Given the description of an element on the screen output the (x, y) to click on. 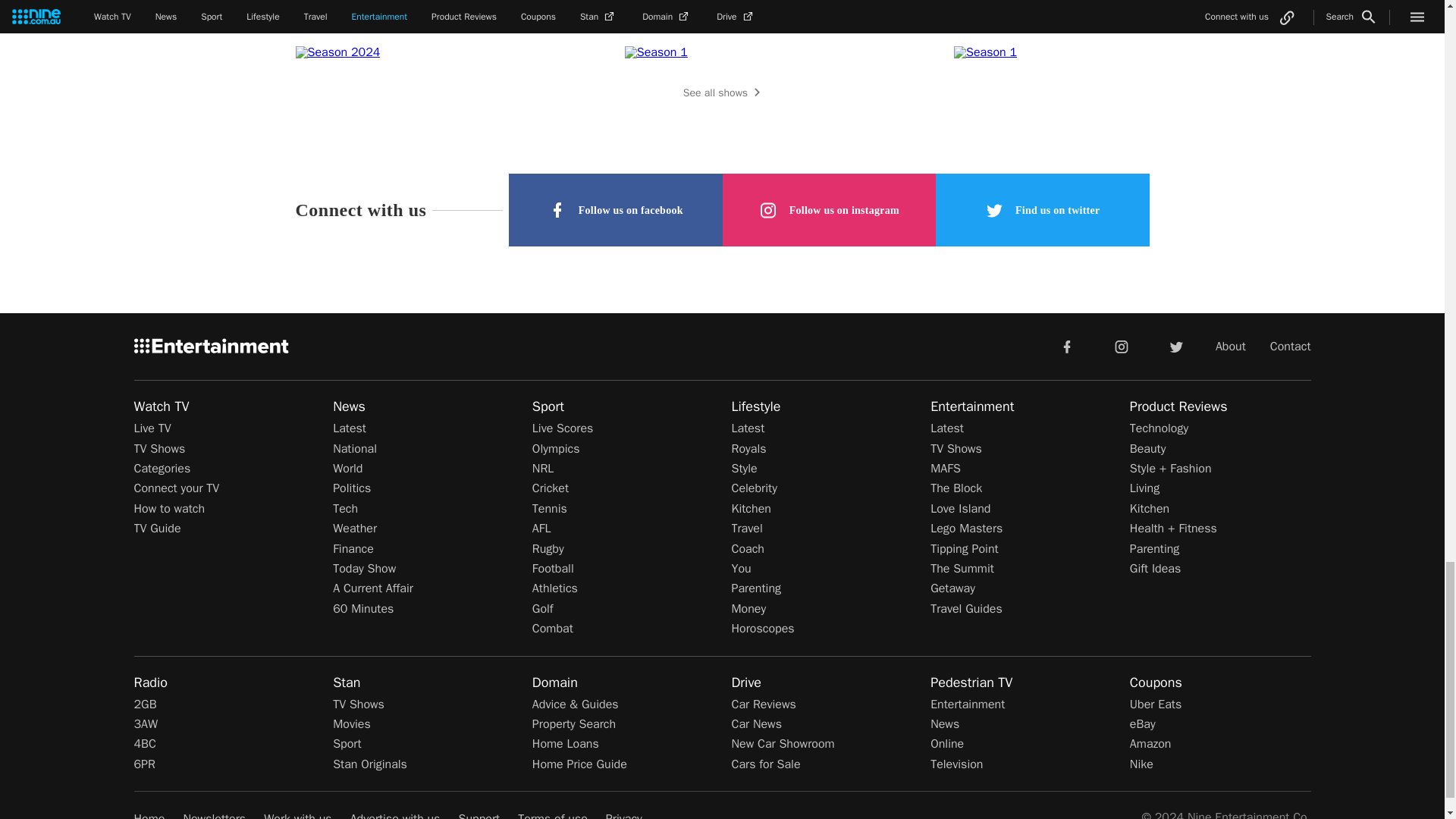
instagram (1121, 345)
twitter (1175, 345)
facebook (1066, 345)
